Given the description of an element on the screen output the (x, y) to click on. 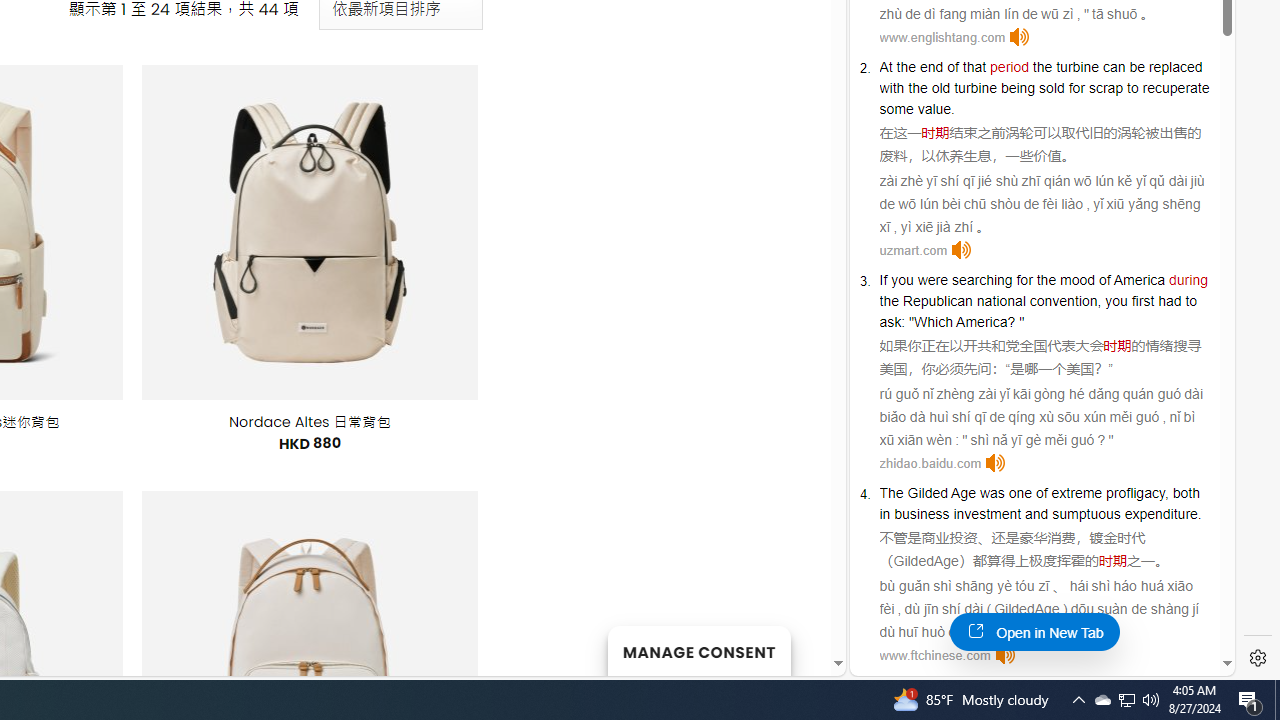
business (921, 514)
zhidao.baidu.com (930, 462)
to (1191, 300)
Republican (937, 300)
investment (987, 514)
